Given the description of an element on the screen output the (x, y) to click on. 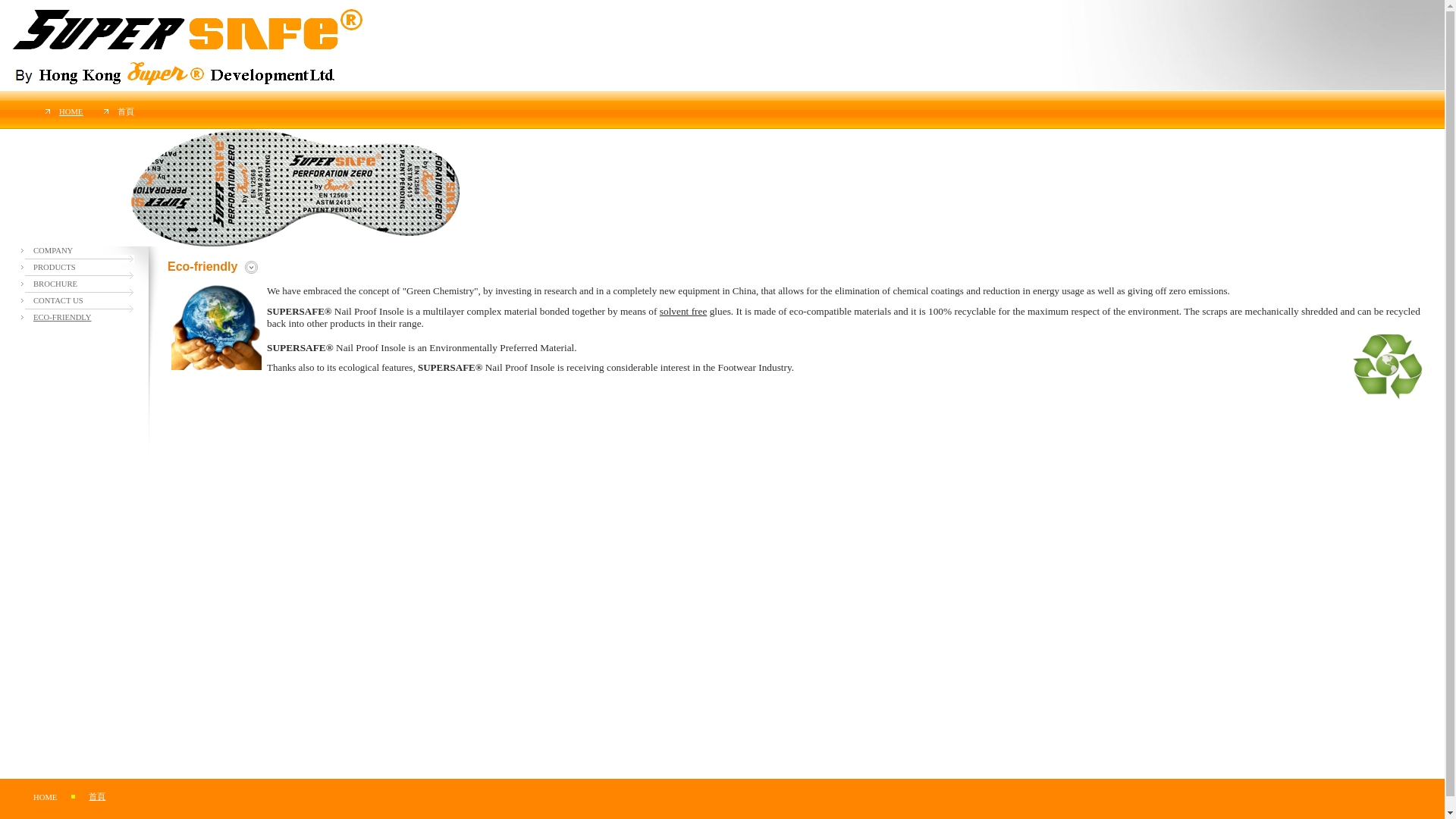
COMPANY (52, 250)
PRODUCTS (54, 266)
BROCHURE (55, 284)
HOME (71, 111)
CONTACT US (57, 300)
HOME (44, 797)
